Given the description of an element on the screen output the (x, y) to click on. 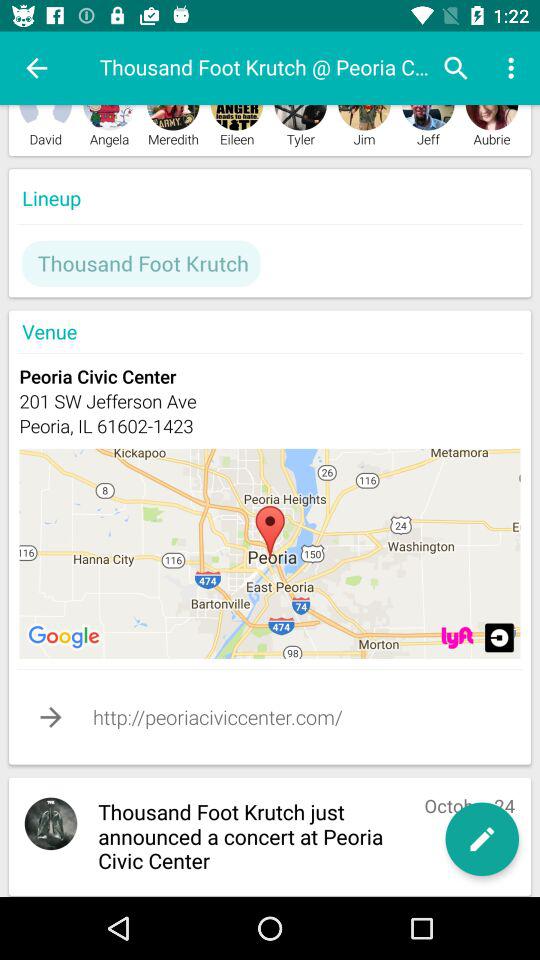
enter information (499, 637)
